Given the description of an element on the screen output the (x, y) to click on. 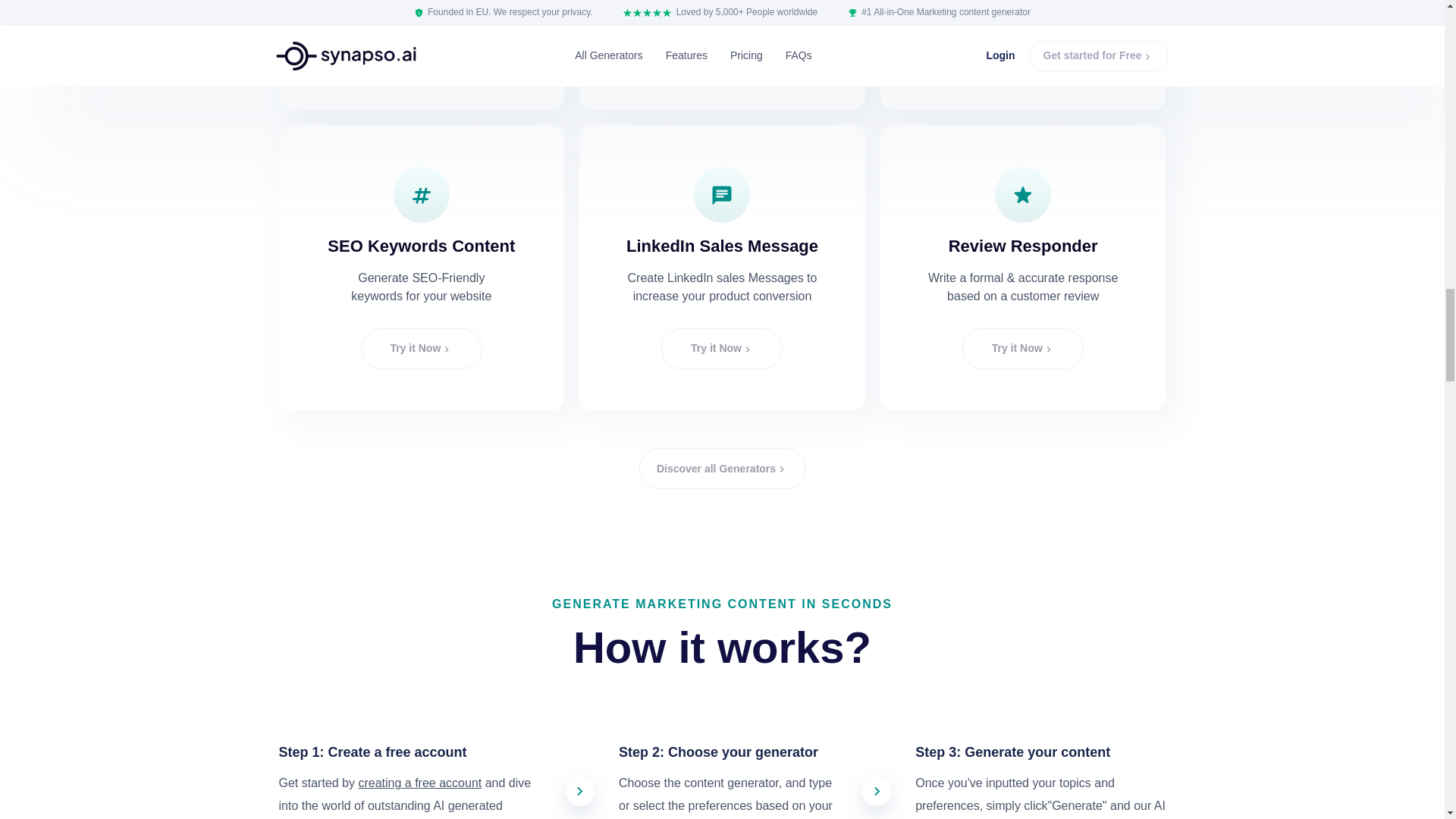
Try it Now (421, 47)
creating a free account (419, 782)
Try it Now (421, 348)
Try it Now (1022, 47)
Try it Now (722, 348)
Try it Now (1022, 348)
Try it Now (722, 47)
Discover all Generators (722, 467)
